Given the description of an element on the screen output the (x, y) to click on. 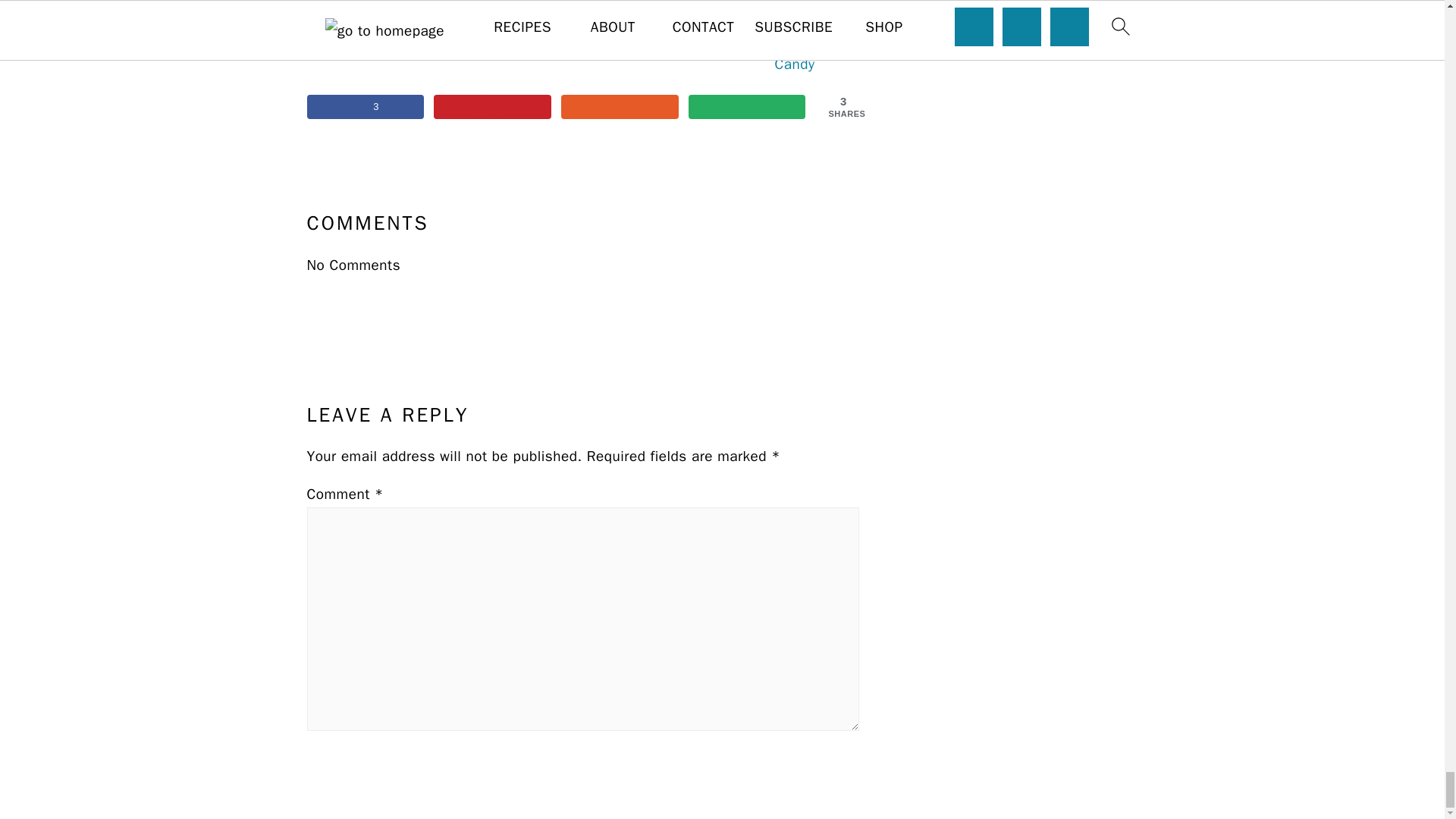
Save to Pinterest (492, 106)
Send over email (747, 106)
Share on Facebook (364, 106)
Share on Yummly (619, 106)
